Given the description of an element on the screen output the (x, y) to click on. 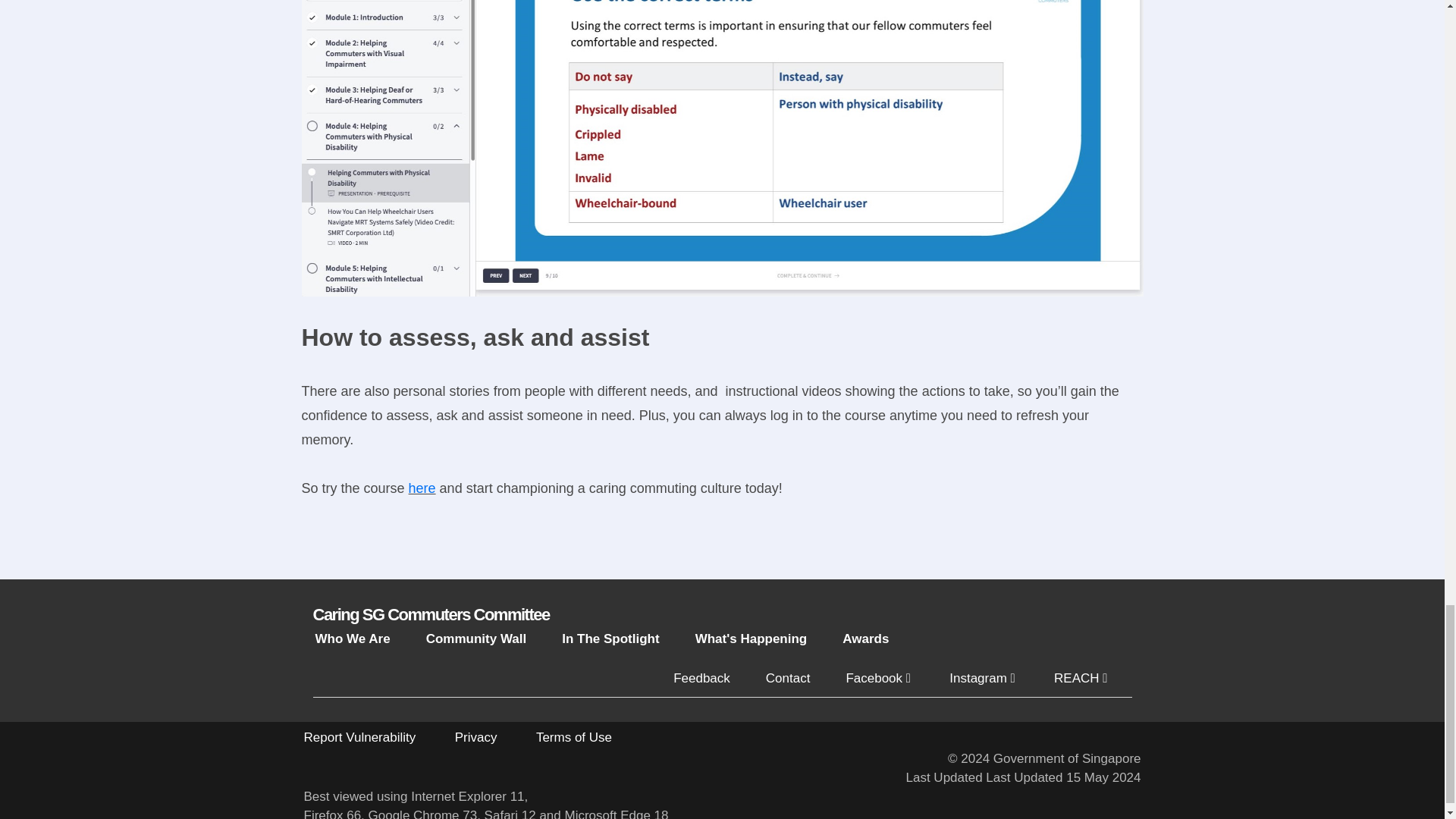
Instagram   (983, 677)
Awards (865, 638)
Facebook   (879, 677)
In The Spotlight (610, 638)
Contact (787, 677)
here (422, 488)
What's Happening (751, 638)
Feedback (701, 677)
Report Vulnerability (358, 737)
Privacy (475, 737)
Community Wall (476, 638)
Who We Are (352, 638)
REACH (1080, 677)
Terms of Use (573, 737)
